Given the description of an element on the screen output the (x, y) to click on. 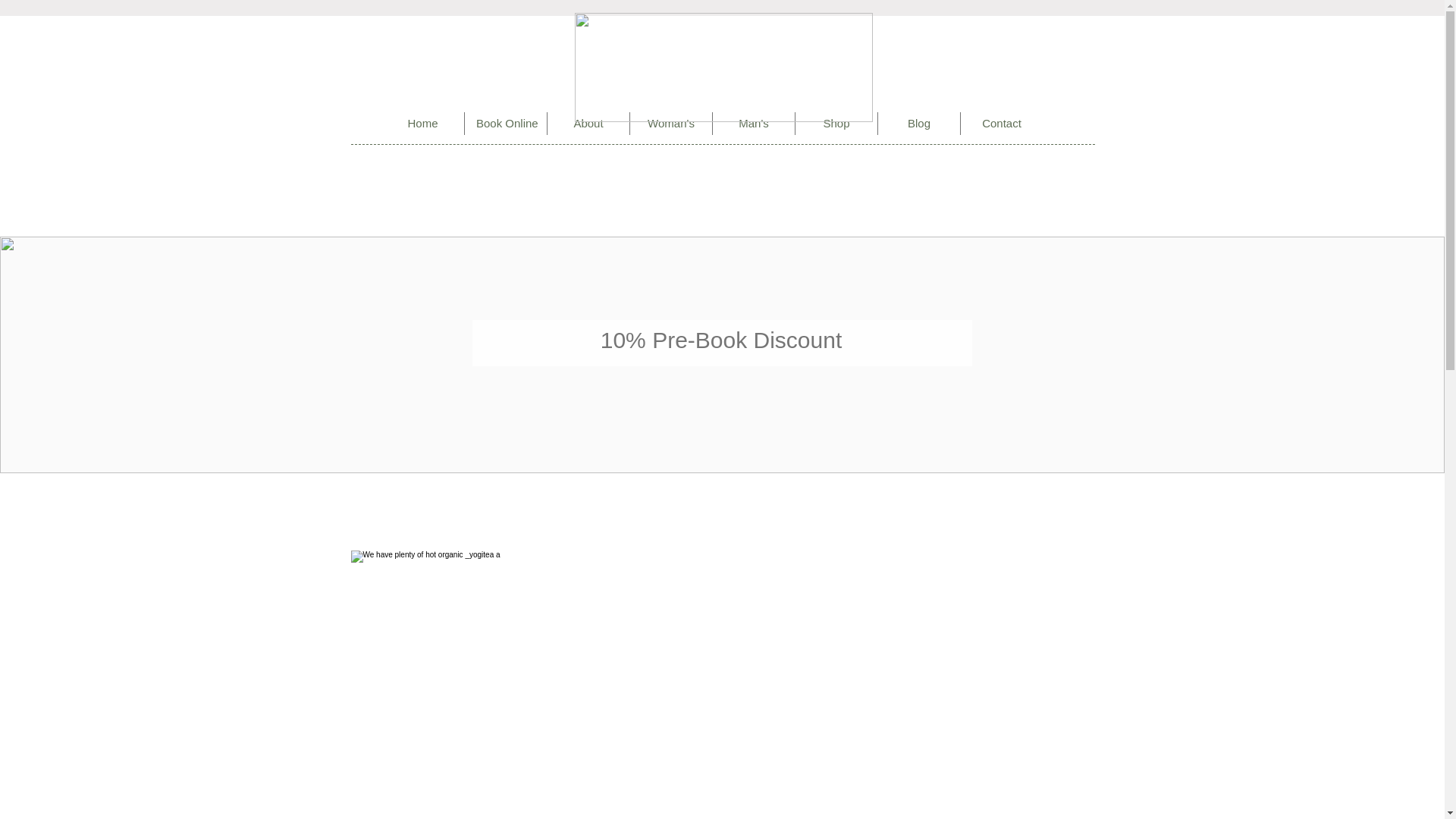
Shop (835, 123)
About (587, 123)
Blog (918, 123)
Book Online (505, 123)
Man's (753, 123)
Contact (1001, 123)
Home (422, 123)
Woman's (670, 123)
